Given the description of an element on the screen output the (x, y) to click on. 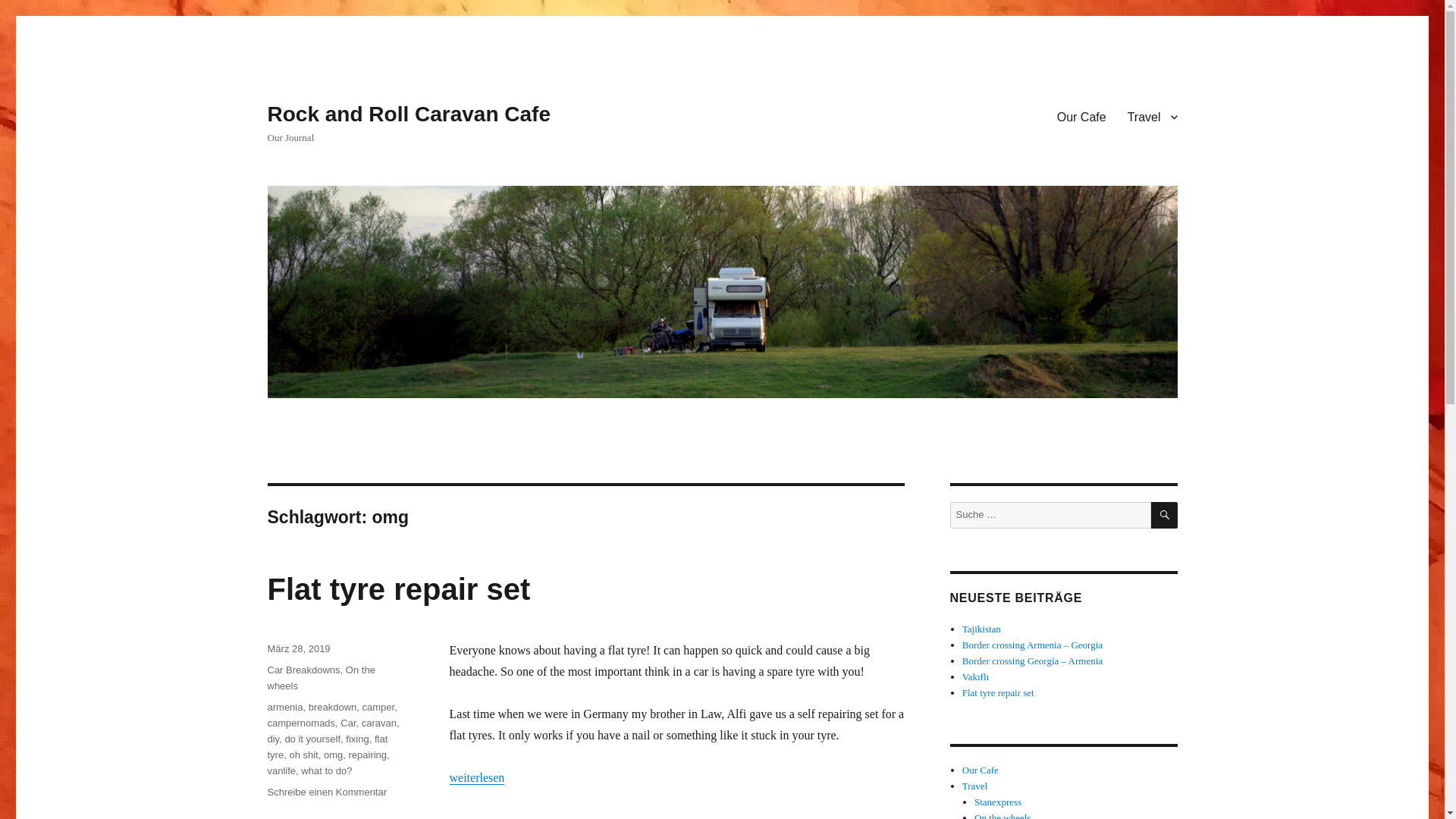
On the wheels (320, 677)
breakdown (332, 706)
Our Cafe (1081, 116)
Car Breakdowns (302, 669)
diy (272, 738)
Travel (1152, 116)
campernomads (300, 722)
do it yourself (311, 738)
Car (347, 722)
Rock and Roll Caravan Cafe (408, 114)
armenia (284, 706)
caravan (378, 722)
camper (378, 706)
fixing (357, 738)
flat tyre (326, 746)
